Given the description of an element on the screen output the (x, y) to click on. 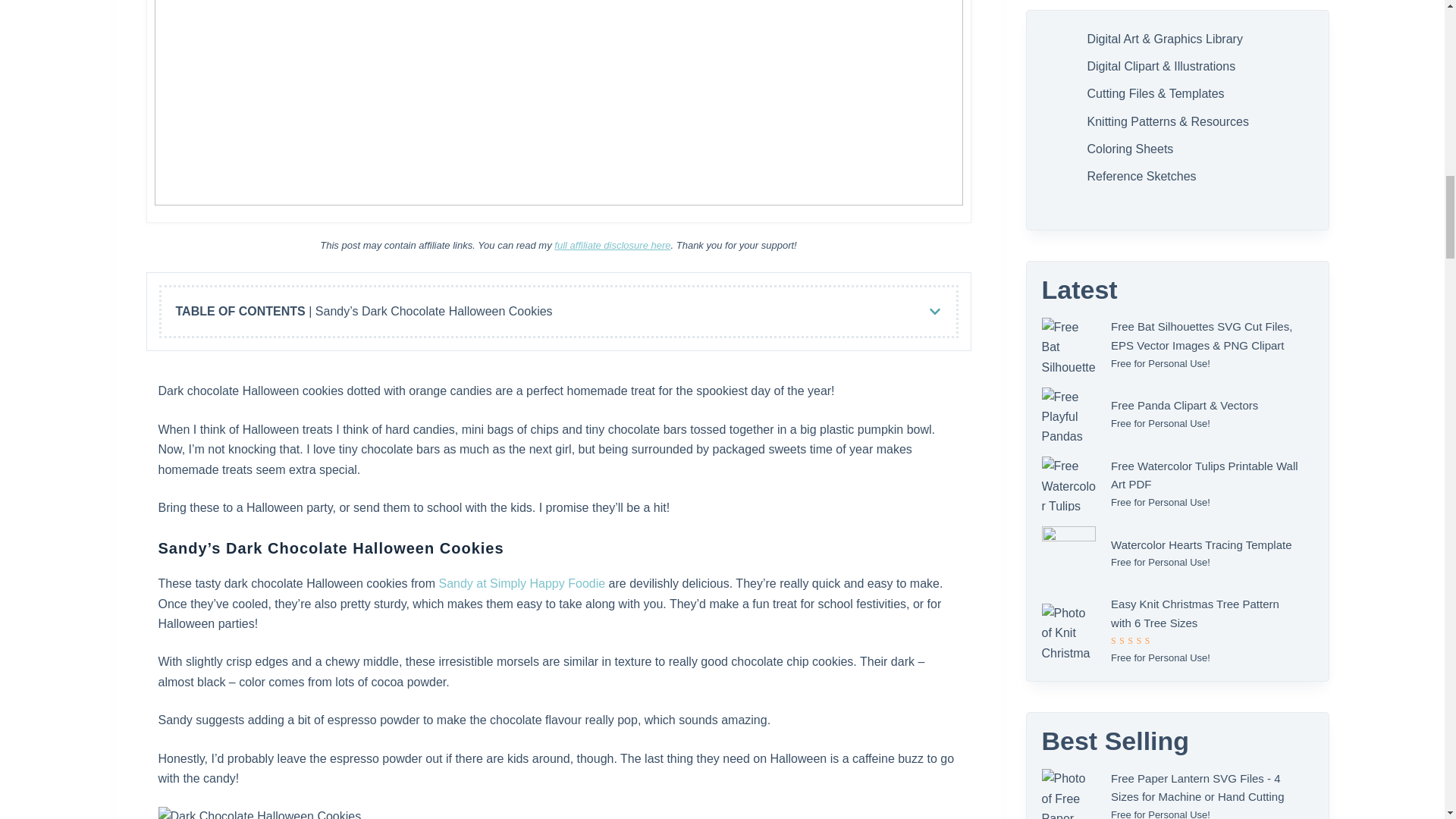
Free Watercolor Tulips Printable Wall Art (1069, 483)
MandyShop-Etsy-1-100 (1069, 553)
Free Playful Pandas Clipart - Cover Image 1 (1069, 414)
Free Paper Lantern SVG White Set (1069, 794)
full affiliate disclosure here (611, 244)
Knit Christmas Trees (1069, 630)
Sandy at Simply Happy Foodie (521, 583)
Free Bat Silhouettes (1069, 344)
